Given the description of an element on the screen output the (x, y) to click on. 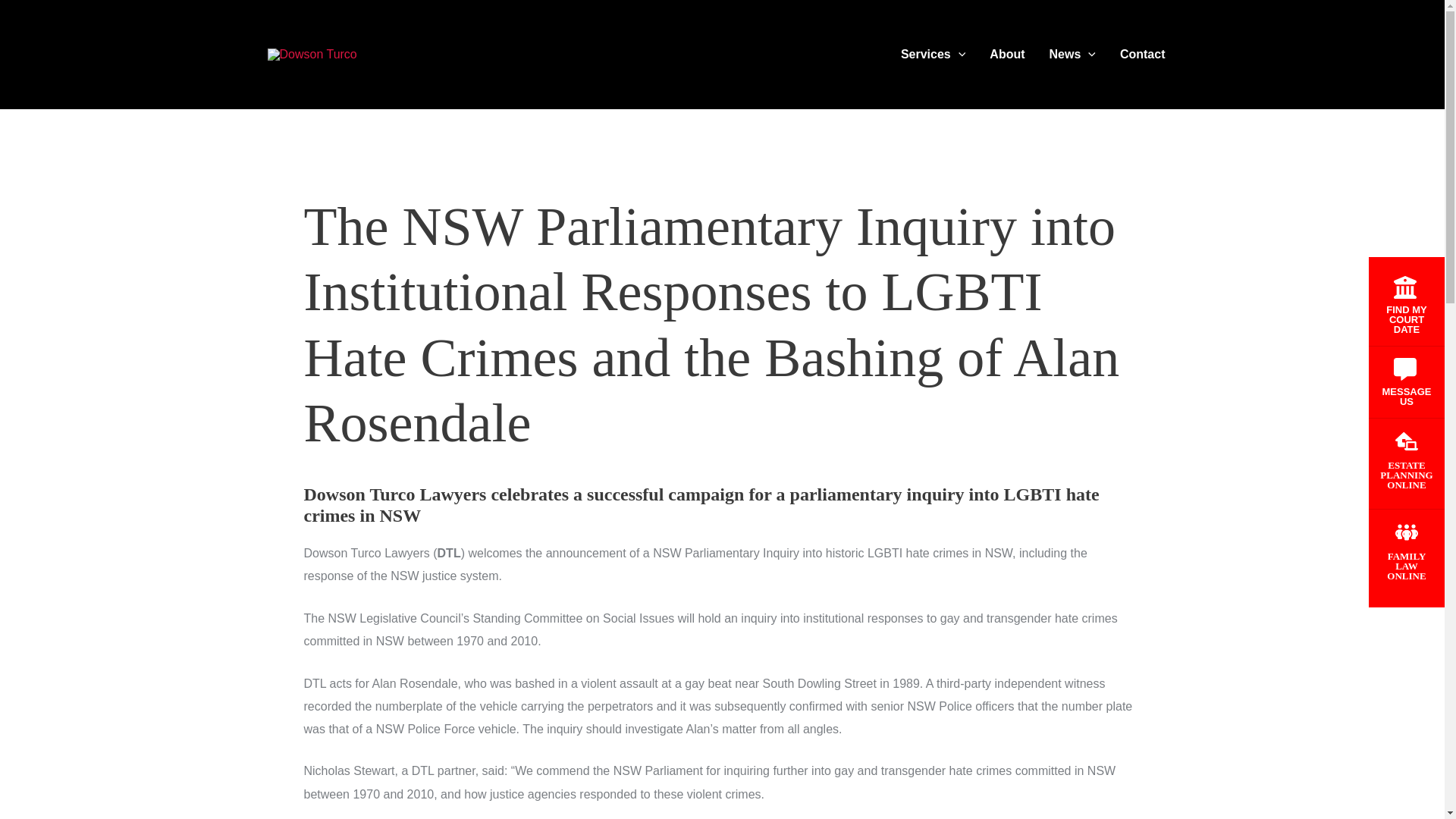
Contact (1142, 54)
FIND MY COURT DATE (1406, 305)
News (1072, 54)
Services (932, 54)
About (1006, 54)
